Given the description of an element on the screen output the (x, y) to click on. 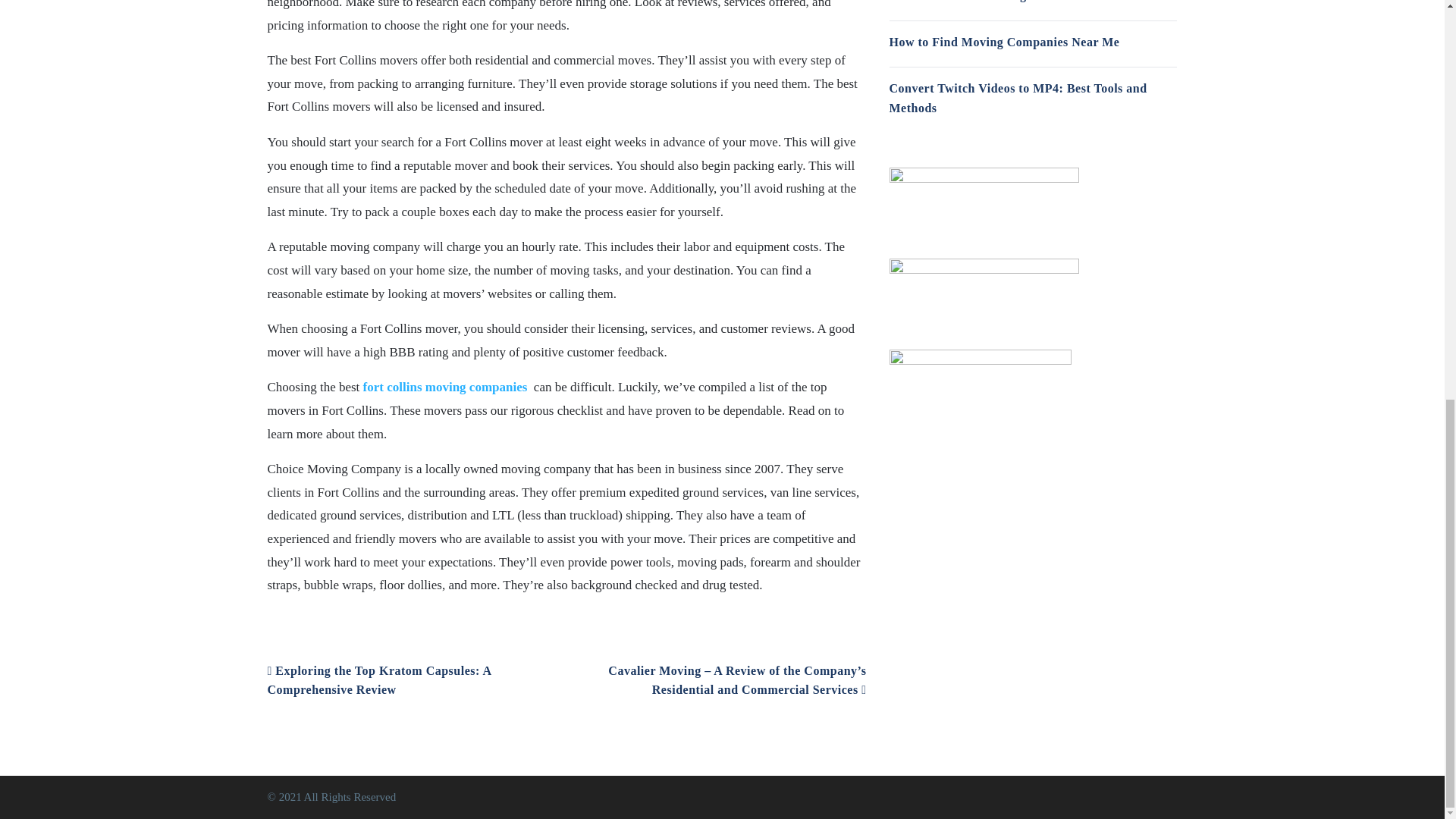
fort collins moving companies (444, 386)
Exploring the Top Kratom Capsules: A Comprehensive Review (378, 680)
How to Find Moving Companies Near Me (1003, 42)
Convert Twitch Videos to MP4: Best Tools and Methods (1017, 97)
